Given the description of an element on the screen output the (x, y) to click on. 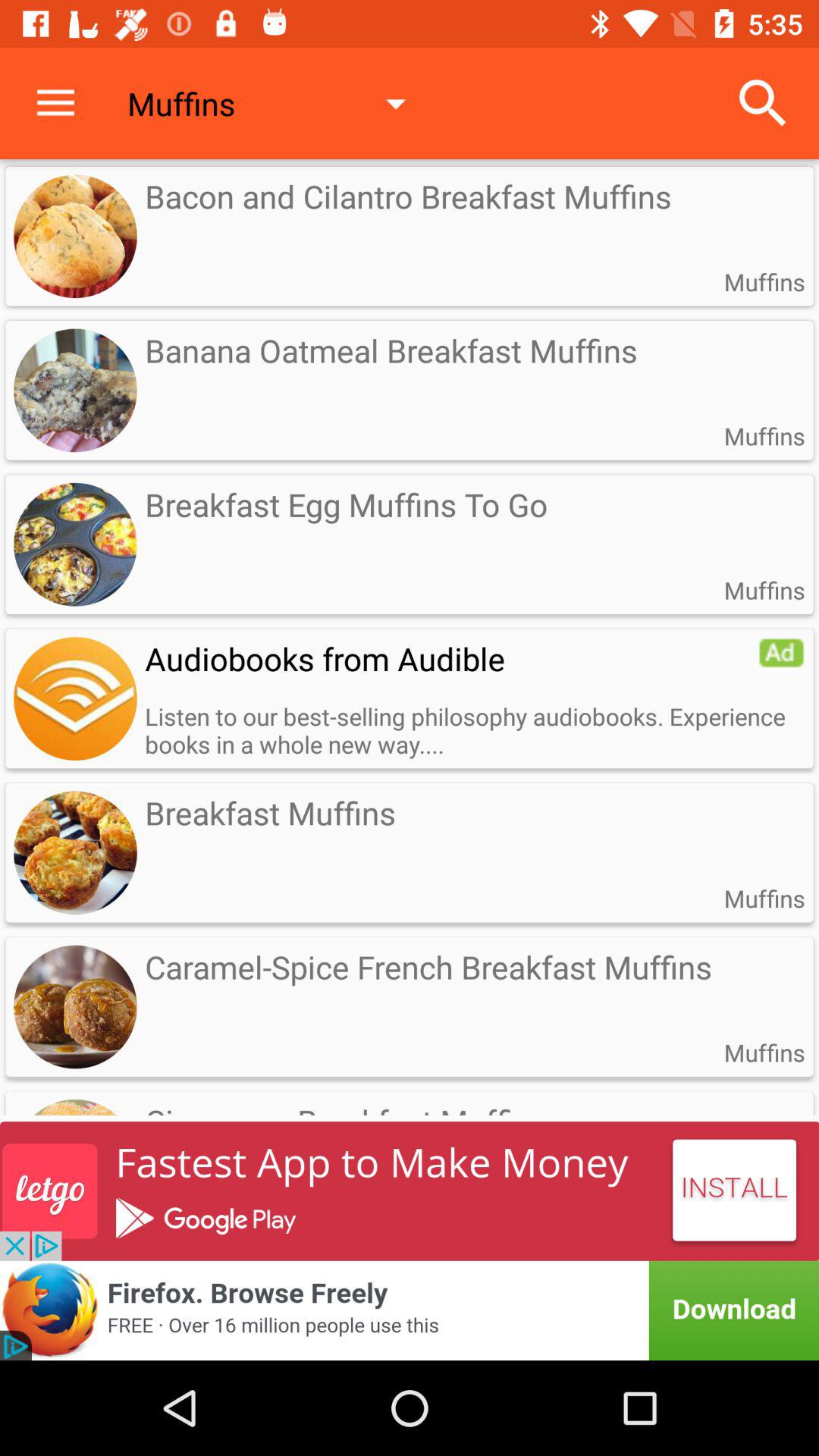
firebox advertisement (409, 1310)
